Given the description of an element on the screen output the (x, y) to click on. 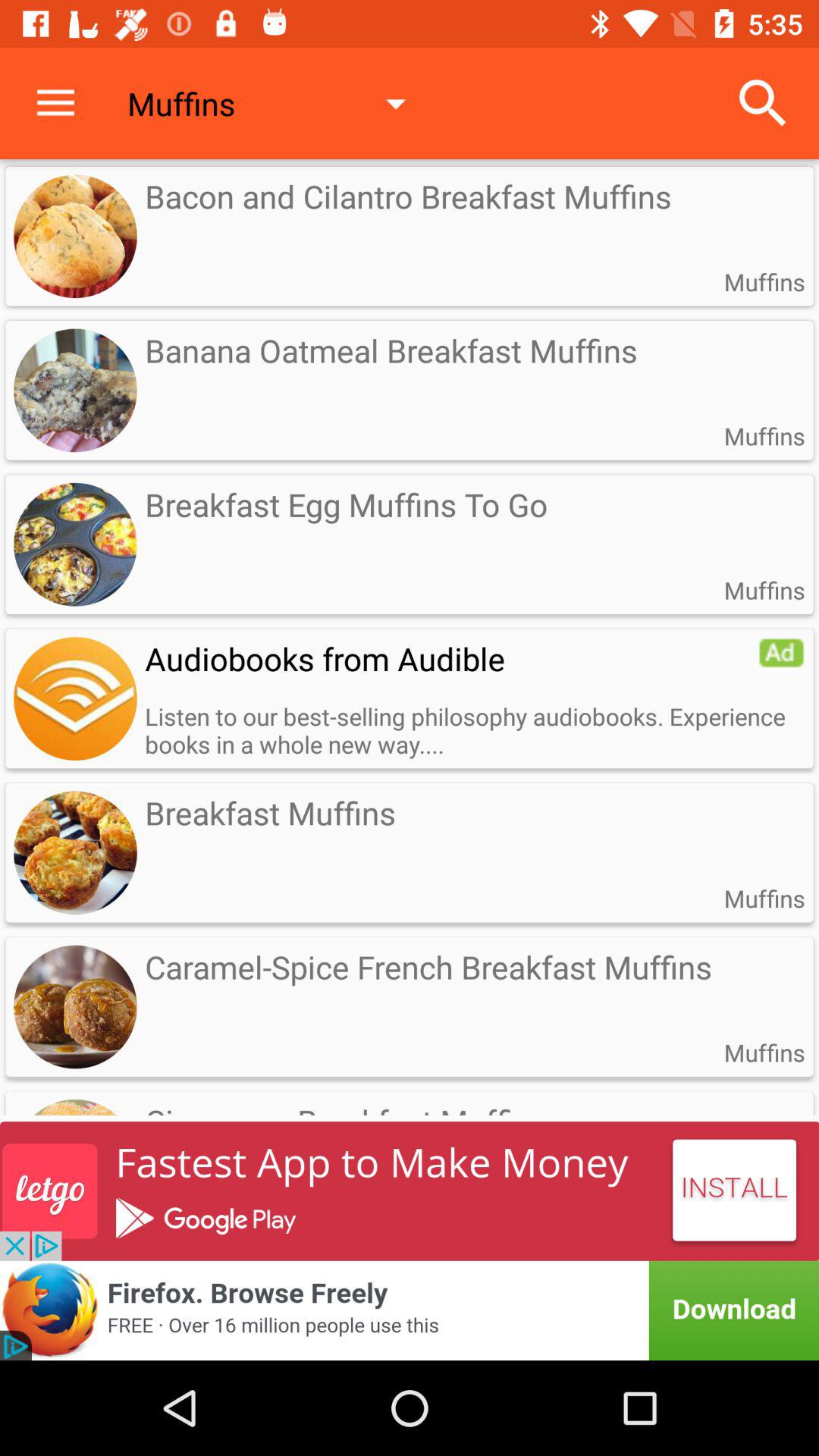
firebox advertisement (409, 1310)
